Given the description of an element on the screen output the (x, y) to click on. 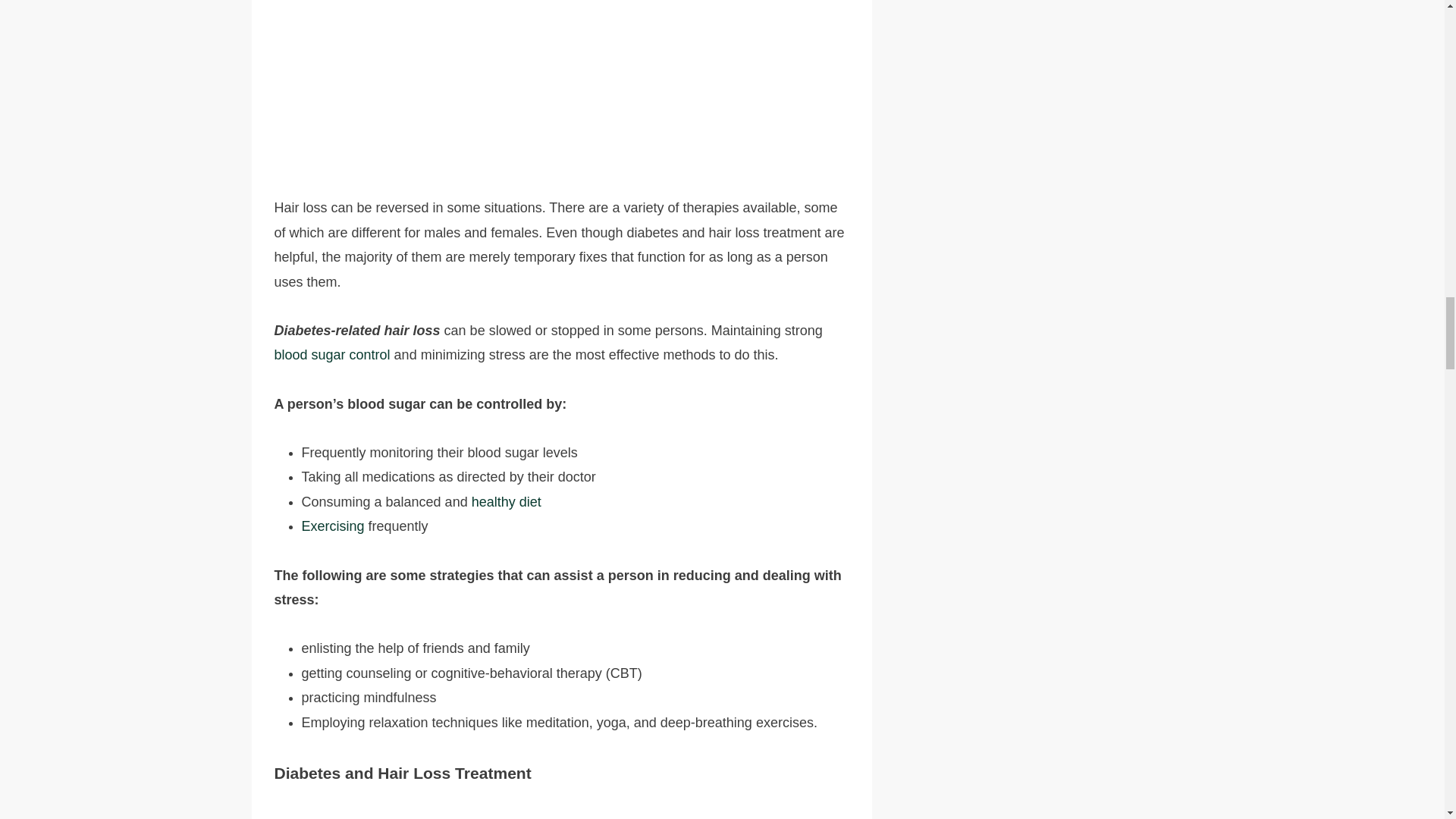
blood sugar control (332, 354)
healthy diet (506, 501)
